Given the description of an element on the screen output the (x, y) to click on. 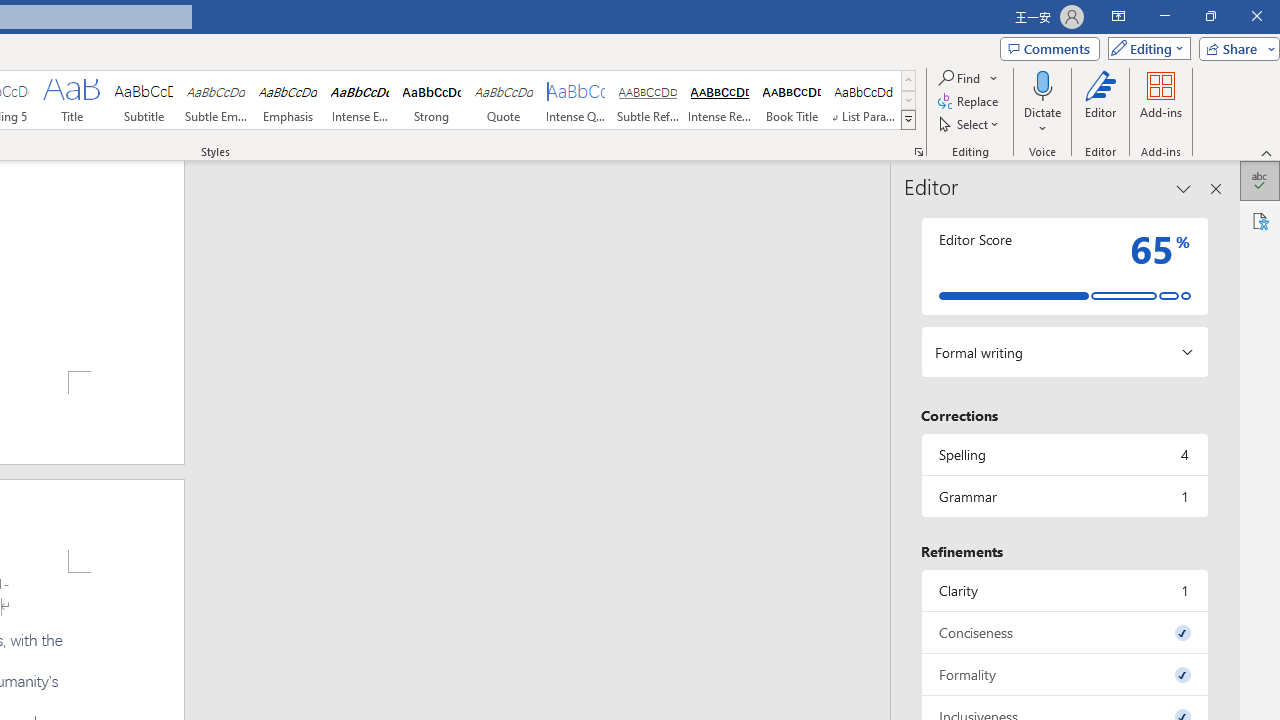
Clarity, 1 issue. Press space or enter to review items. (1064, 590)
Styles (908, 120)
Spelling, 4 issues. Press space or enter to review items. (1064, 454)
Ribbon Display Options (1118, 16)
Styles... (918, 151)
Intense Emphasis (359, 100)
Task Pane Options (1183, 188)
Formality, 0 issues. Press space or enter to review items. (1064, 673)
Editor (1101, 102)
Editor (1260, 180)
Accessibility (1260, 220)
Emphasis (287, 100)
Editing (1144, 47)
Share (1235, 48)
Select (970, 124)
